Given the description of an element on the screen output the (x, y) to click on. 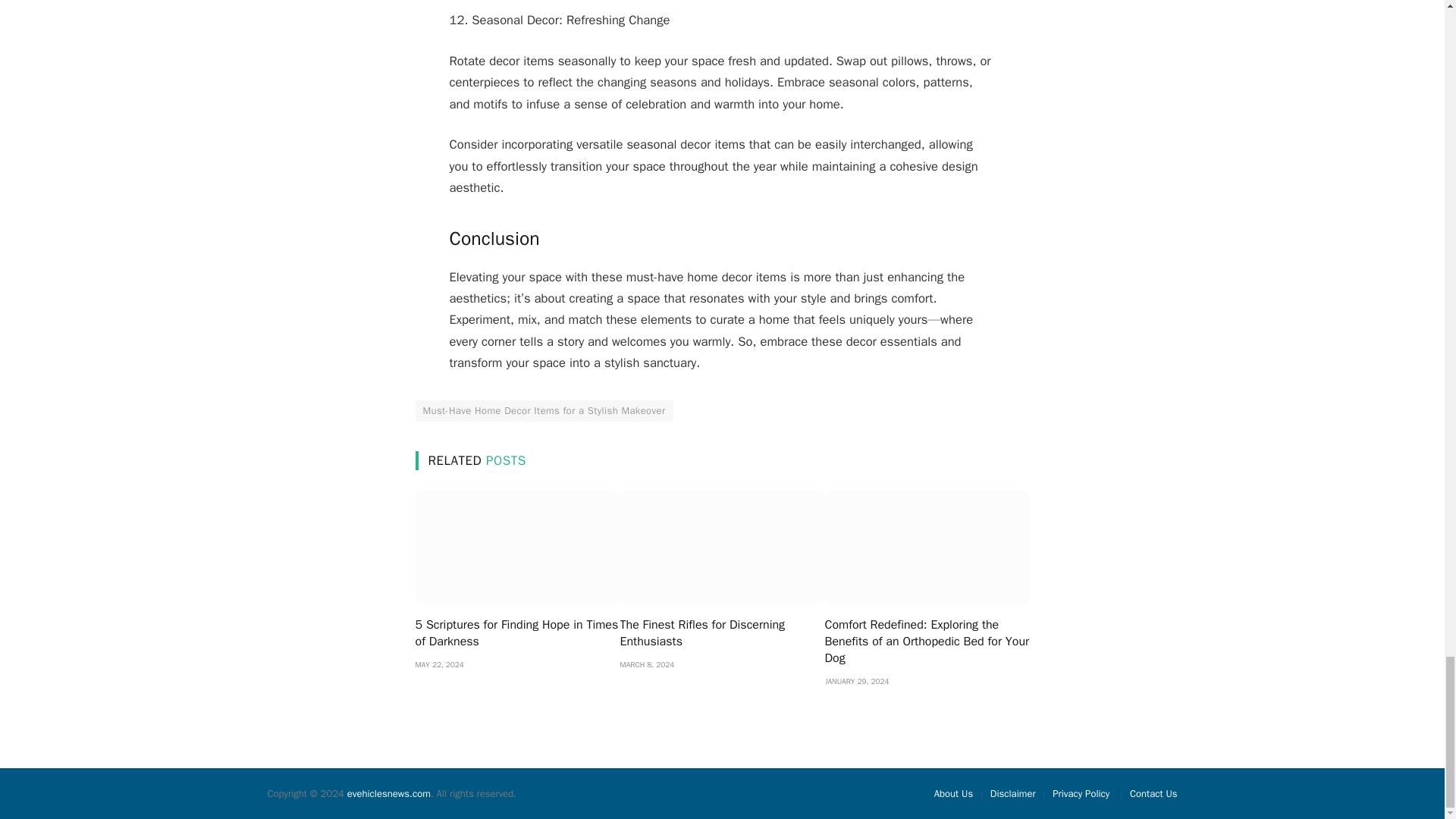
5 Scriptures for Finding Hope in Times of Darkness (517, 547)
